Given the description of an element on the screen output the (x, y) to click on. 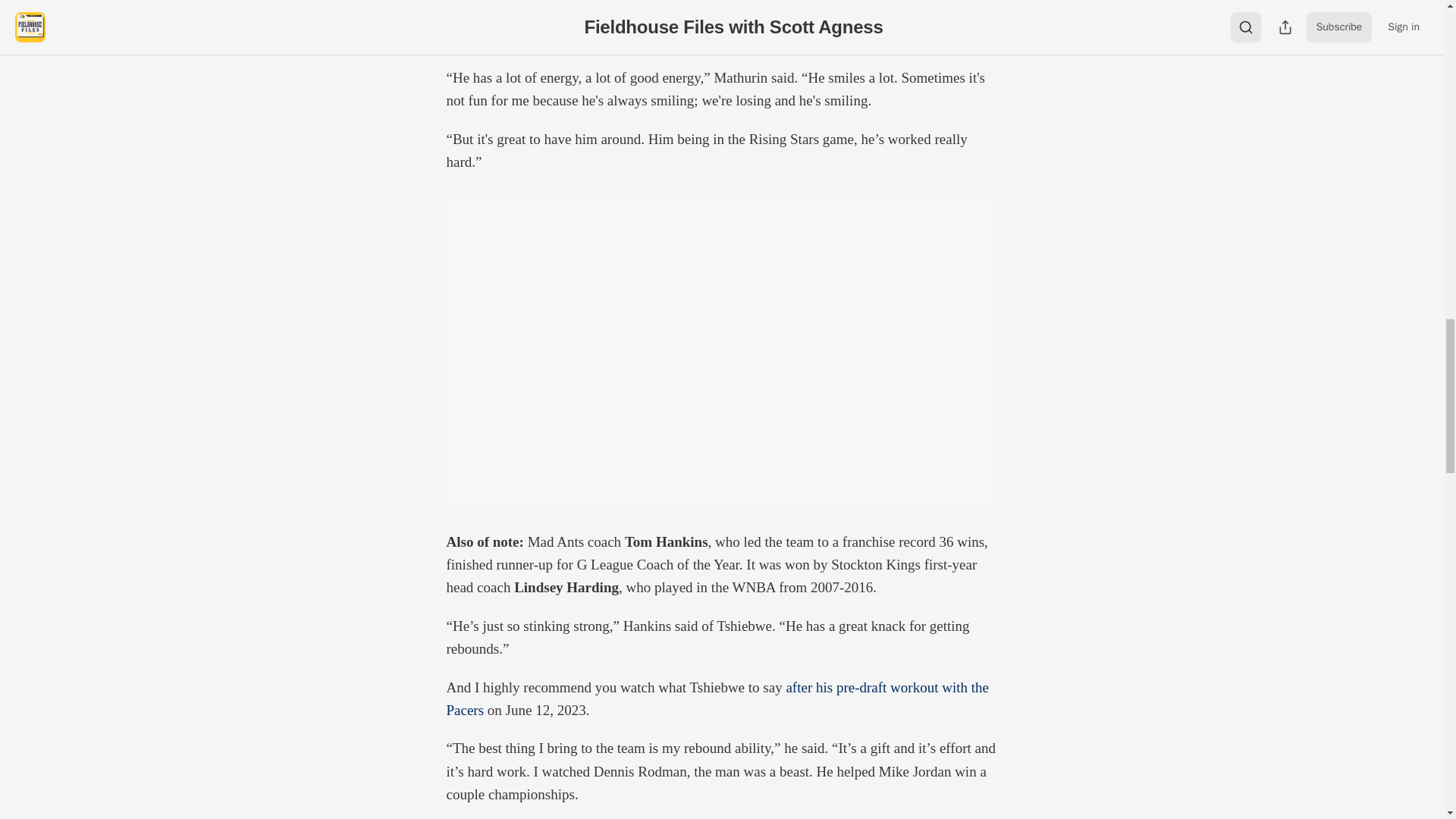
after his pre-draft workout with the Pacers (716, 698)
